Given the description of an element on the screen output the (x, y) to click on. 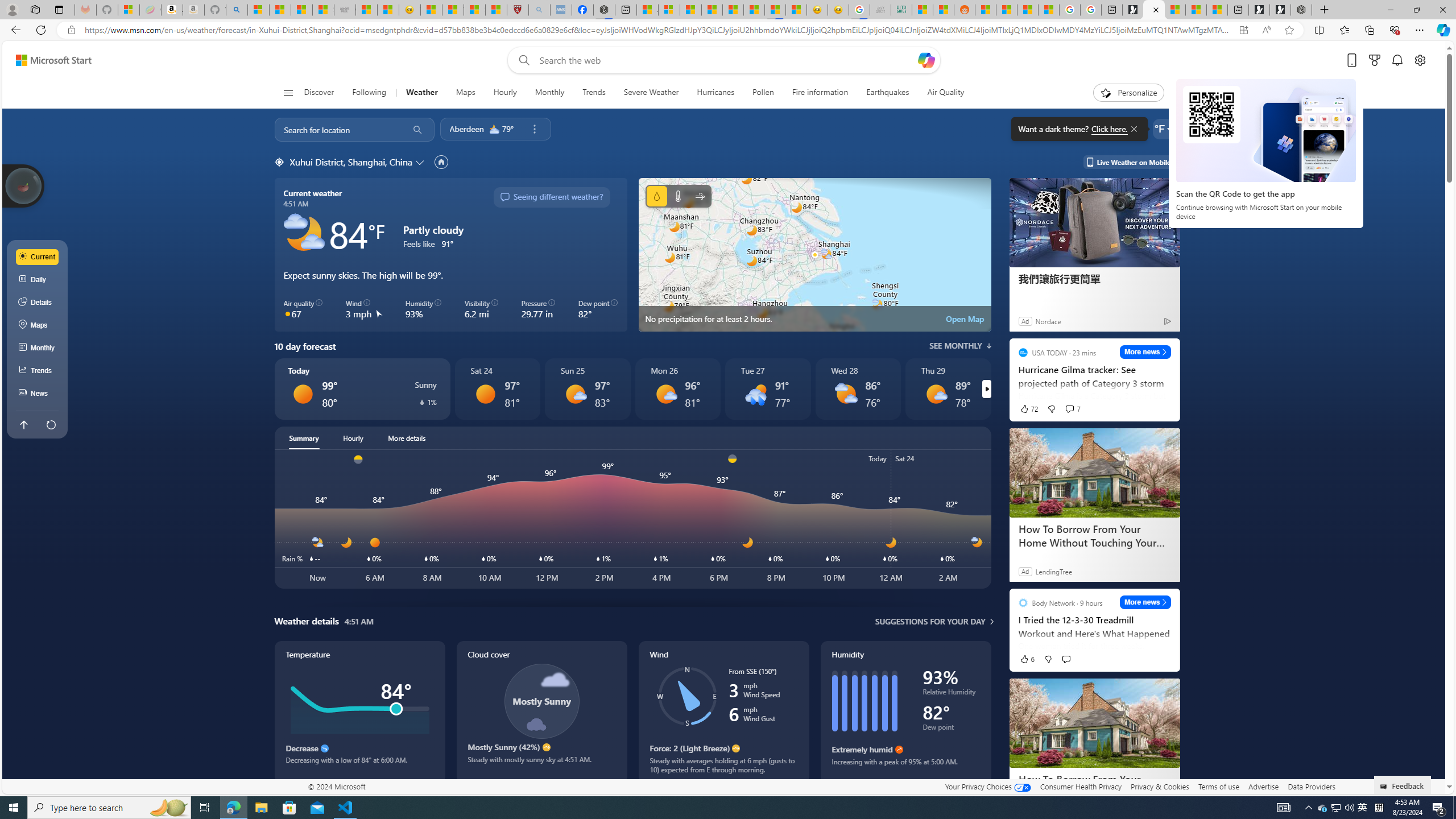
Data Providers (1311, 786)
Suggestions for your day (930, 620)
